Given the description of an element on the screen output the (x, y) to click on. 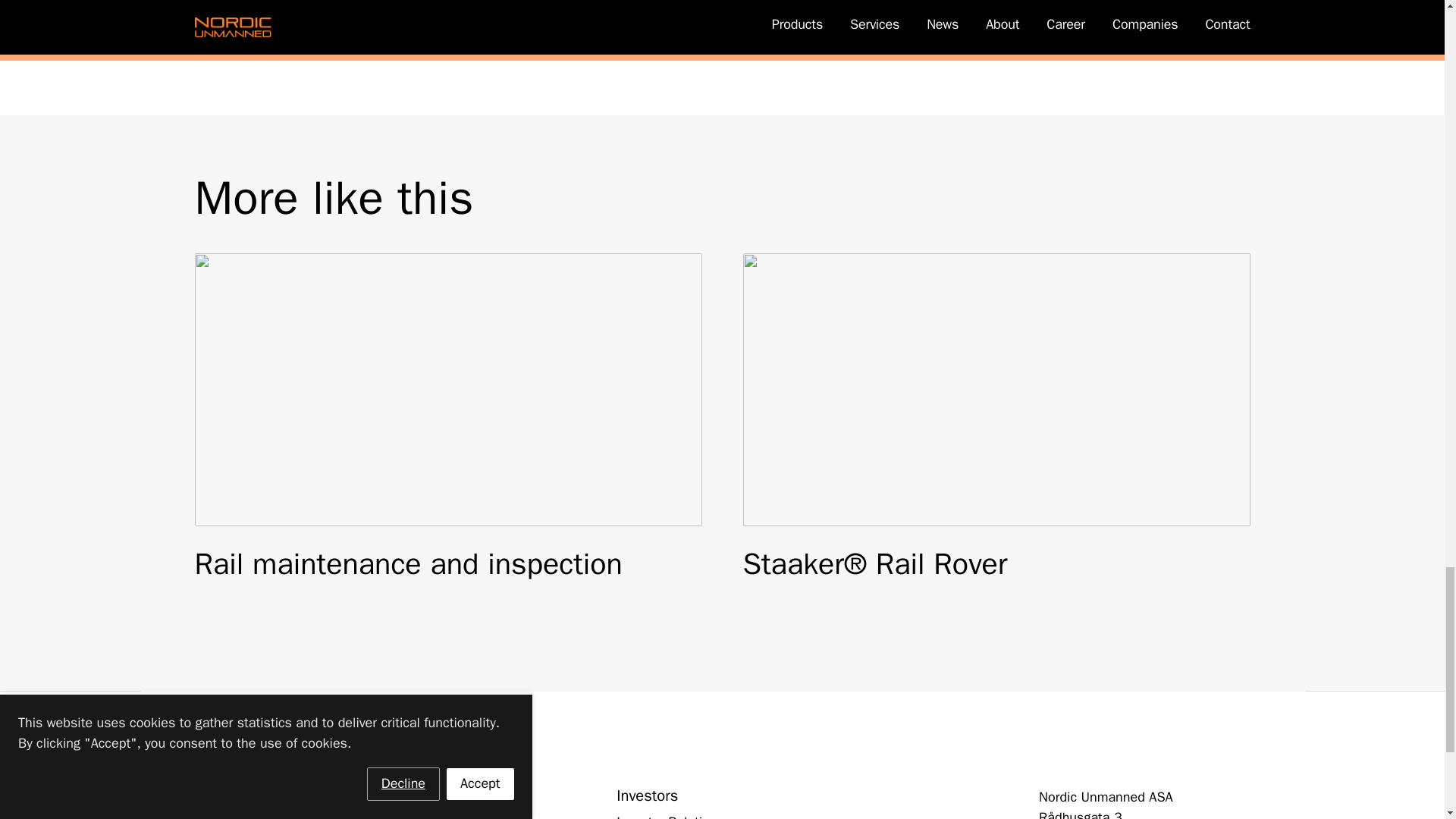
Maritime (432, 815)
Investor Relations (669, 815)
Services (218, 815)
